Given the description of an element on the screen output the (x, y) to click on. 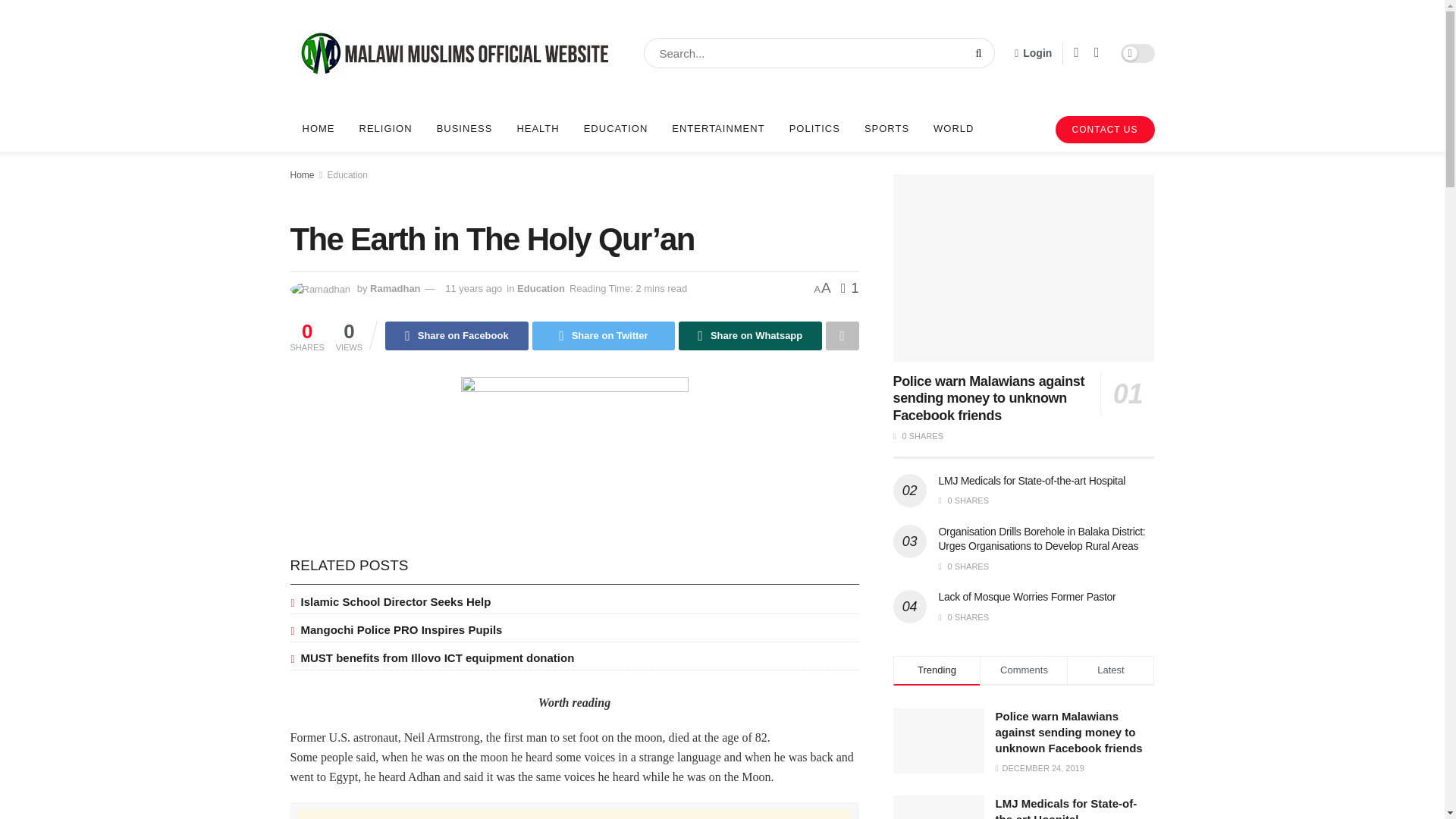
HEALTH (536, 128)
RELIGION (386, 128)
ENTERTAINMENT (717, 128)
Login (1032, 53)
WORLD (953, 128)
EDUCATION (616, 128)
BUSINESS (465, 128)
HOME (317, 128)
POLITICS (814, 128)
SPORTS (886, 128)
CONTACT US (1104, 129)
